Given the description of an element on the screen output the (x, y) to click on. 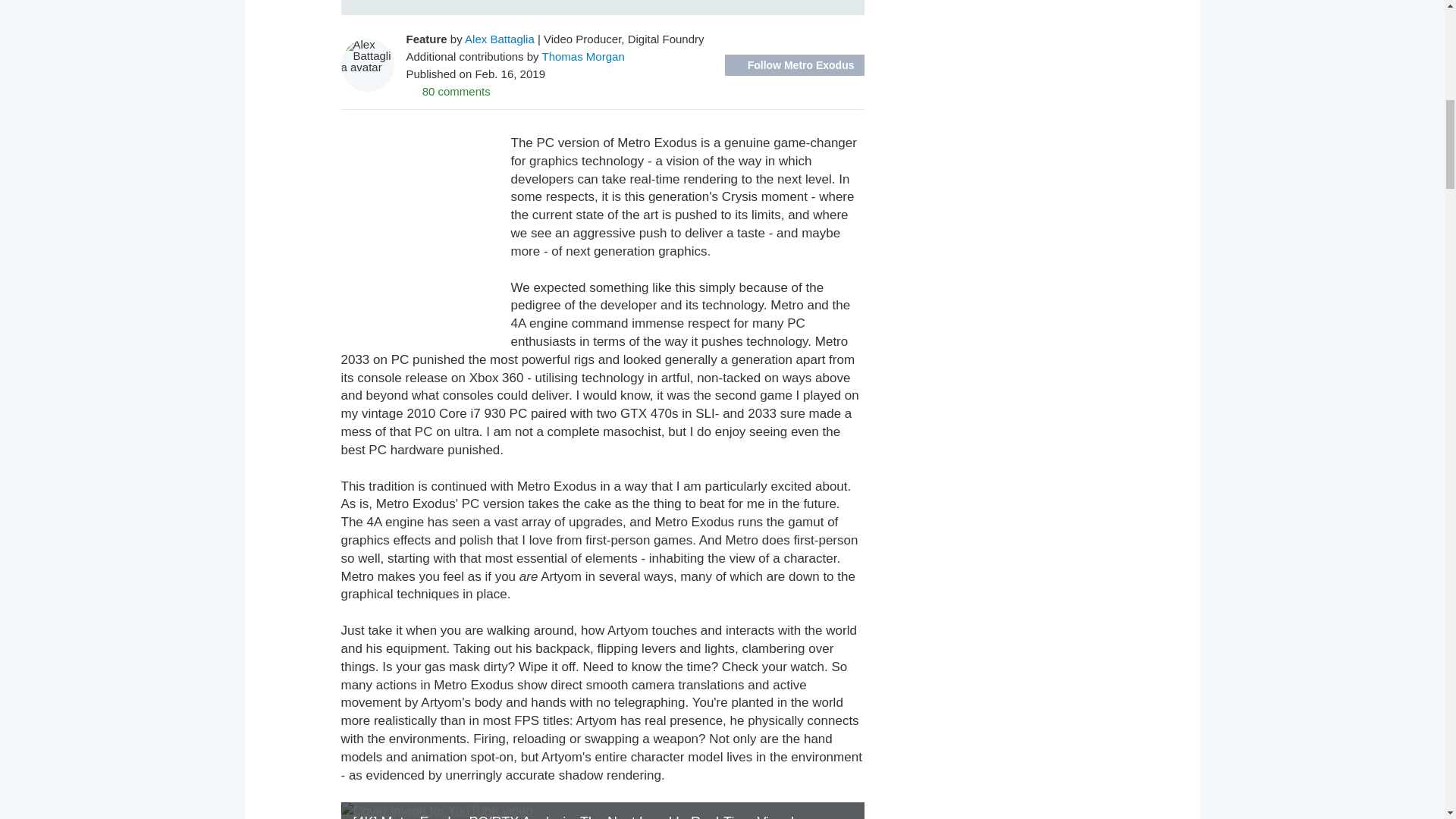
Alex Battaglia (499, 38)
Thomas Morgan (582, 56)
Follow Metro Exodus (794, 65)
80 comments (448, 91)
